Given the description of an element on the screen output the (x, y) to click on. 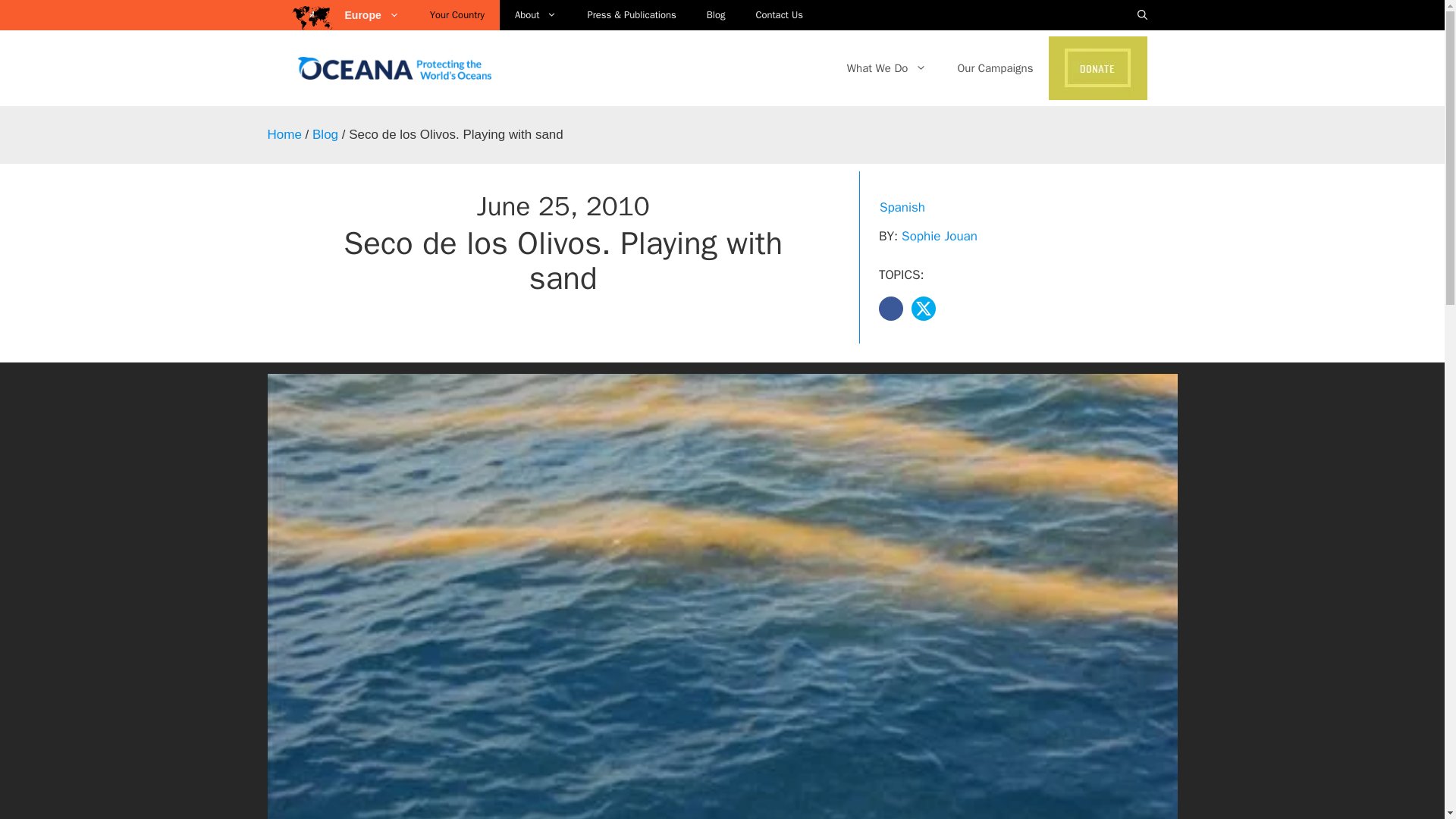
Your Country (456, 15)
Home (283, 134)
Blog (325, 134)
Spanish (902, 206)
What We Do (886, 67)
Europe (378, 15)
Sophie Jouan (938, 236)
About (535, 15)
Blog (716, 15)
Our Campaigns (995, 67)
donate-header-1 (1097, 67)
Contact Us (778, 15)
